Given the description of an element on the screen output the (x, y) to click on. 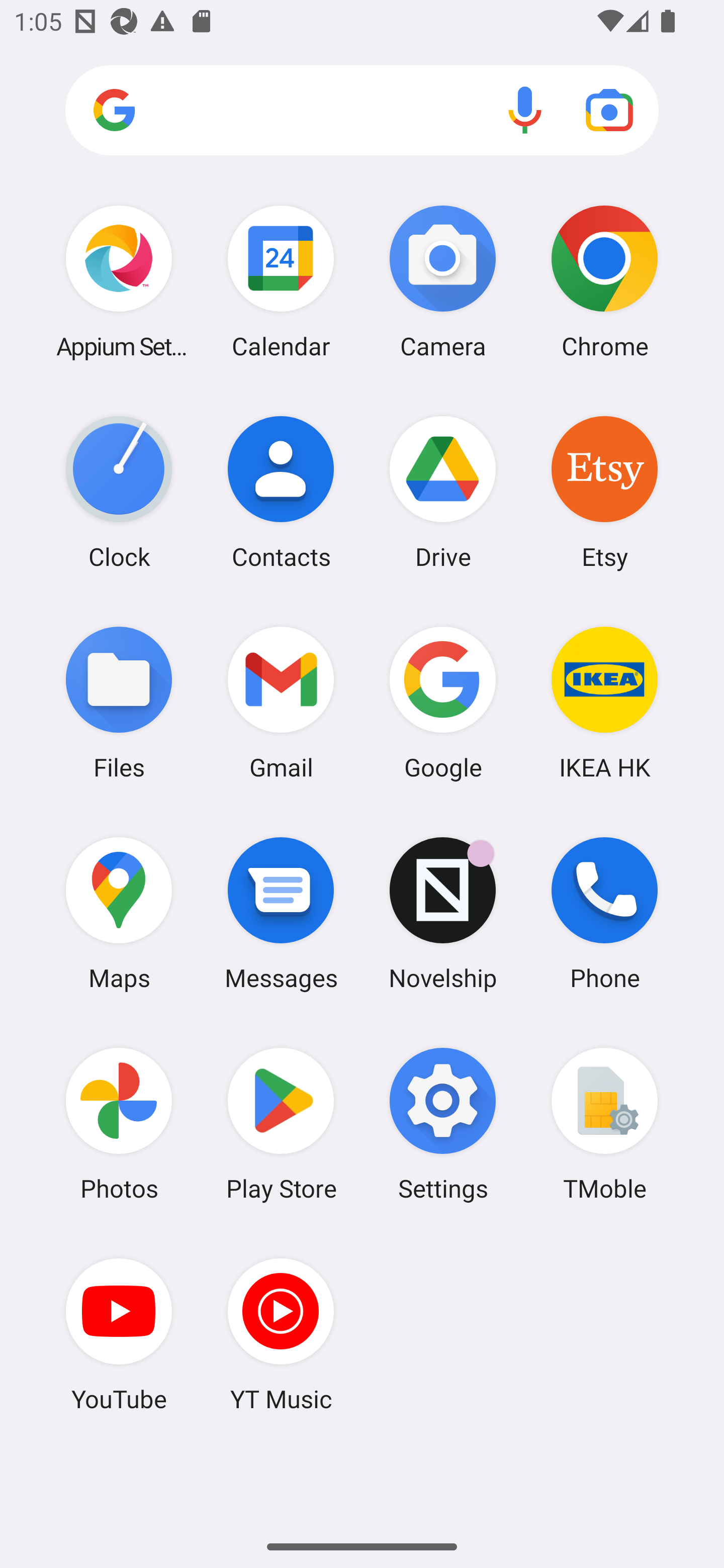
Search apps, web and more (361, 110)
Voice search (524, 109)
Google Lens (608, 109)
Appium Settings (118, 281)
Calendar (280, 281)
Camera (443, 281)
Chrome (604, 281)
Clock (118, 492)
Contacts (280, 492)
Drive (443, 492)
Etsy (604, 492)
Files (118, 702)
Gmail (280, 702)
Google (443, 702)
IKEA HK (604, 702)
Maps (118, 913)
Messages (280, 913)
Novelship Novelship has 7 notifications (443, 913)
Phone (604, 913)
Photos (118, 1124)
Play Store (280, 1124)
Settings (443, 1124)
TMoble (604, 1124)
YouTube (118, 1334)
YT Music (280, 1334)
